Given the description of an element on the screen output the (x, y) to click on. 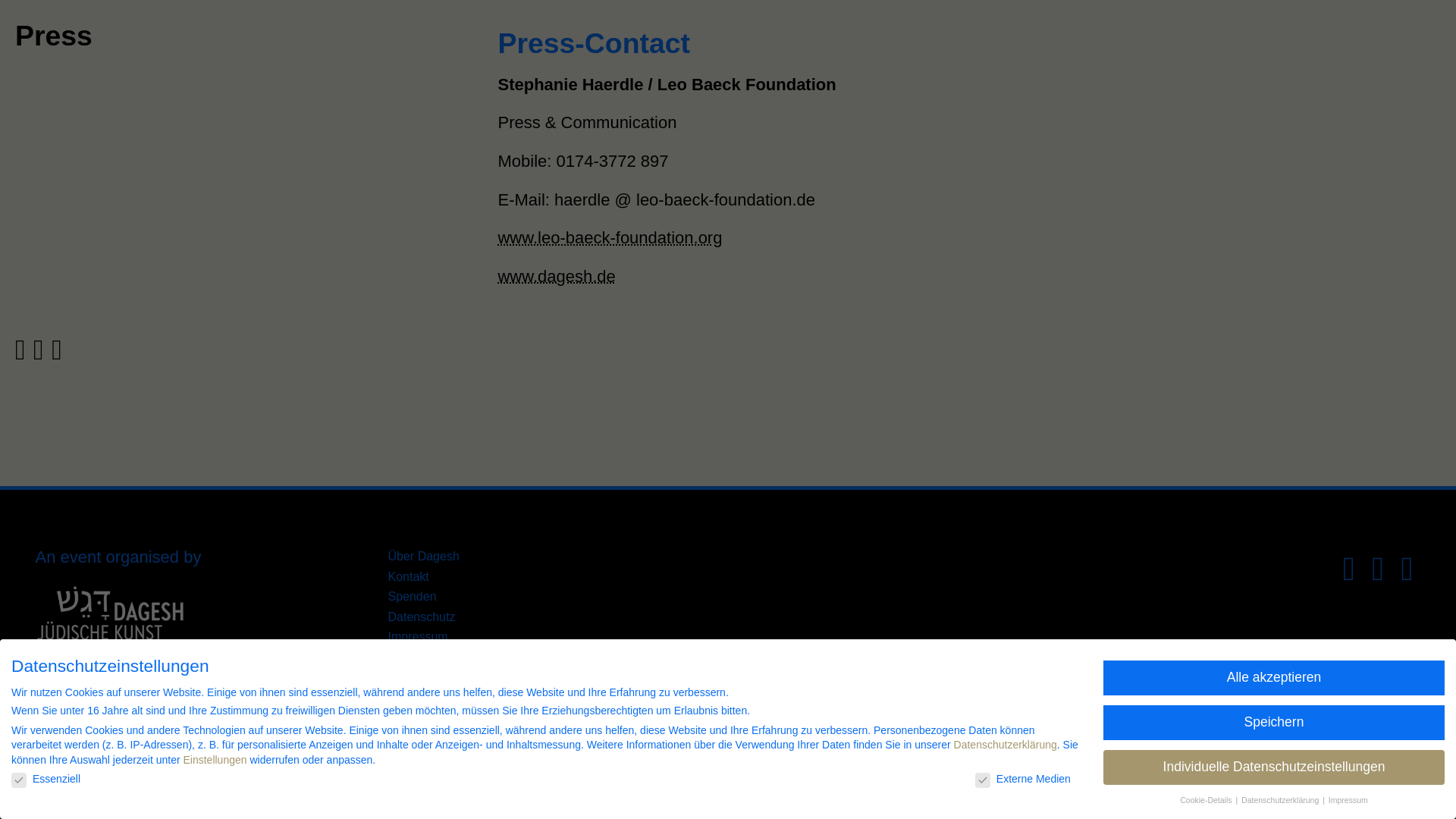
www.dagesh.de (555, 275)
Press (53, 35)
www.leo-baeck-foundation.org (609, 237)
